Given the description of an element on the screen output the (x, y) to click on. 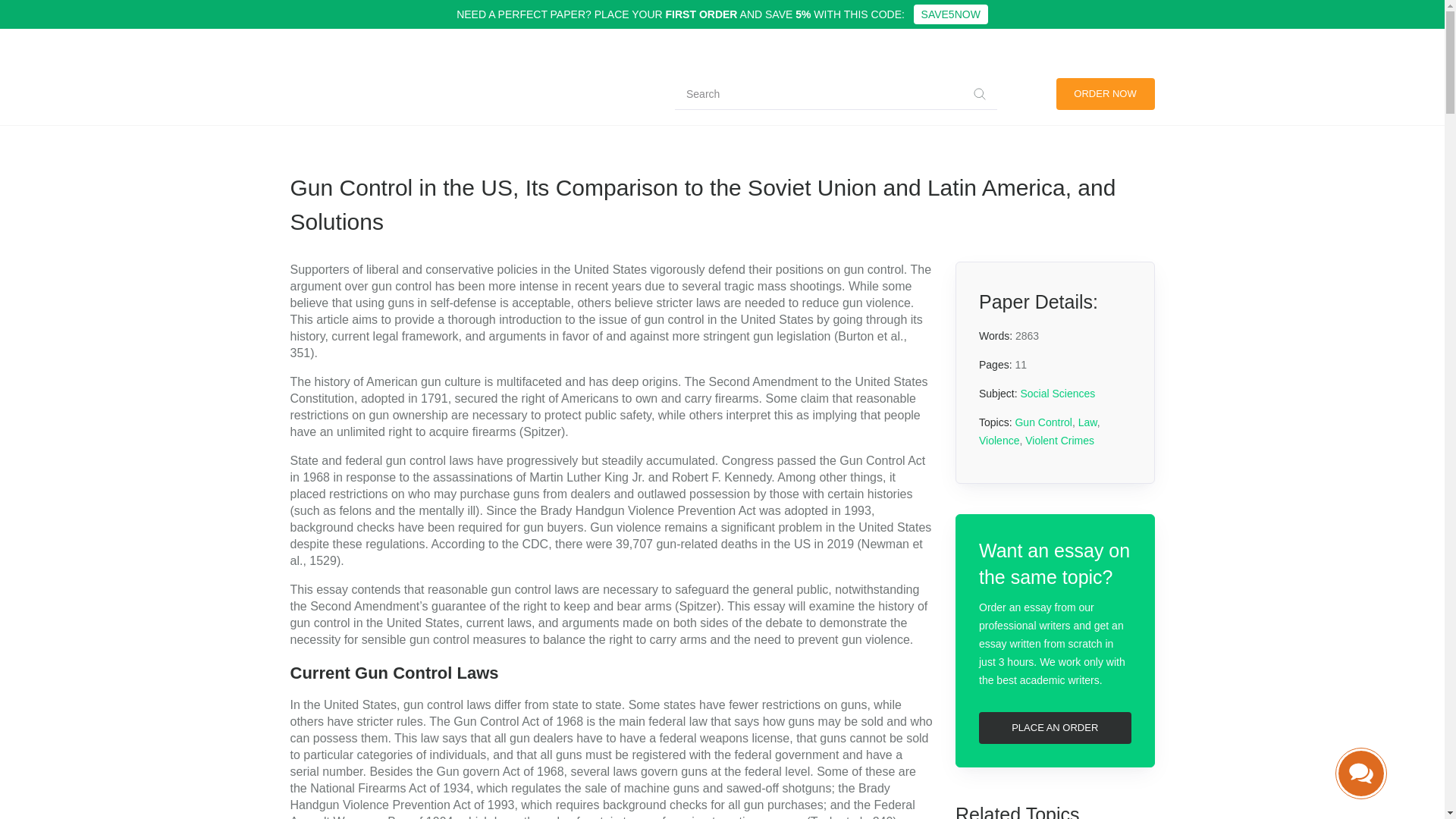
PLACE AN ORDER (1054, 727)
Gun Control (1042, 422)
Social Sciences (1057, 393)
ORDER NOW (1104, 93)
SAVE5NOW (951, 14)
Violent Crimes (1059, 440)
Home (305, 101)
Social Sciences (376, 101)
Violence (998, 440)
Law (1087, 422)
